Given the description of an element on the screen output the (x, y) to click on. 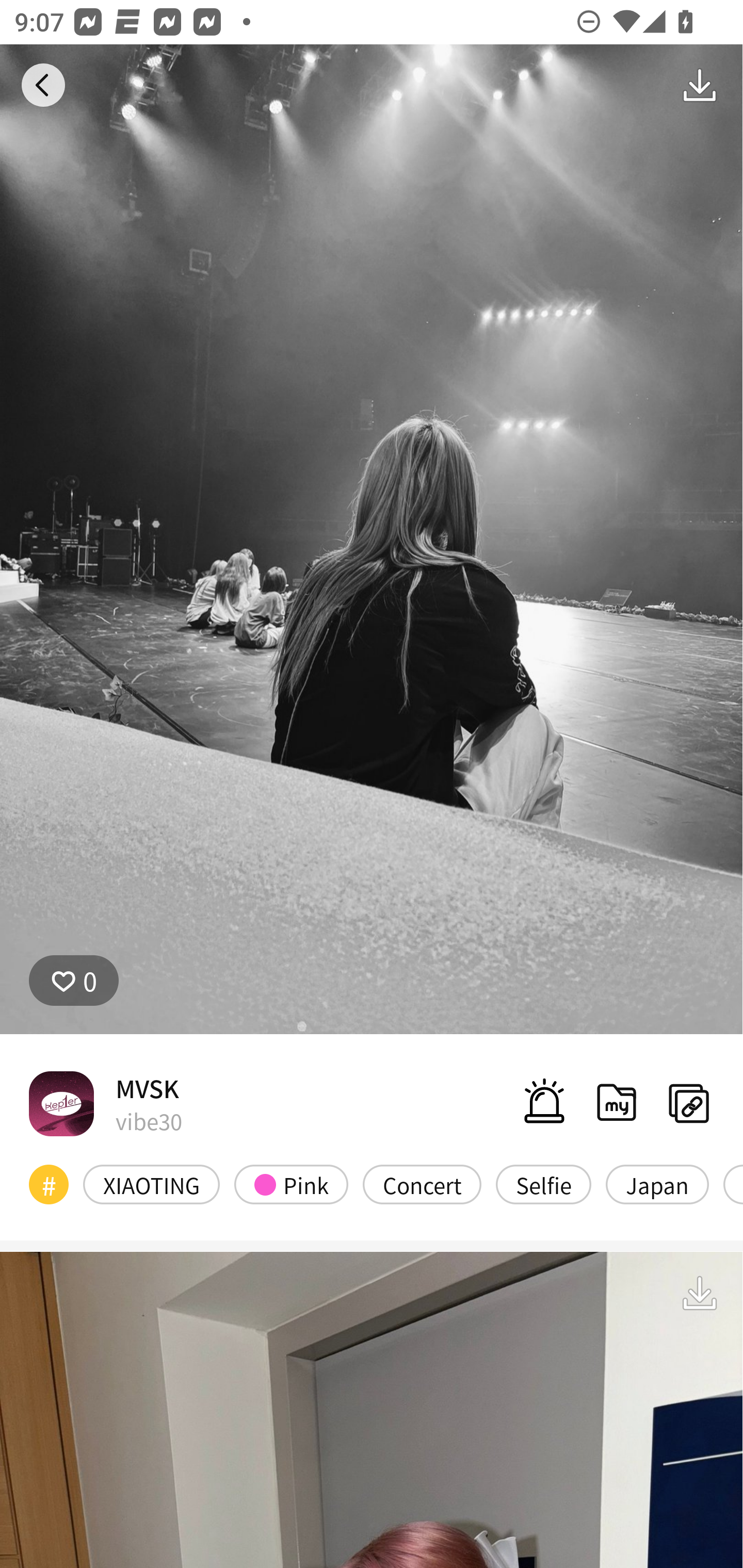
0 (73, 980)
MVSK vibe30 (105, 1102)
XIAOTING (151, 1184)
Pink (291, 1184)
Concert (421, 1184)
Selfie (543, 1184)
Japan (656, 1184)
